Given the description of an element on the screen output the (x, y) to click on. 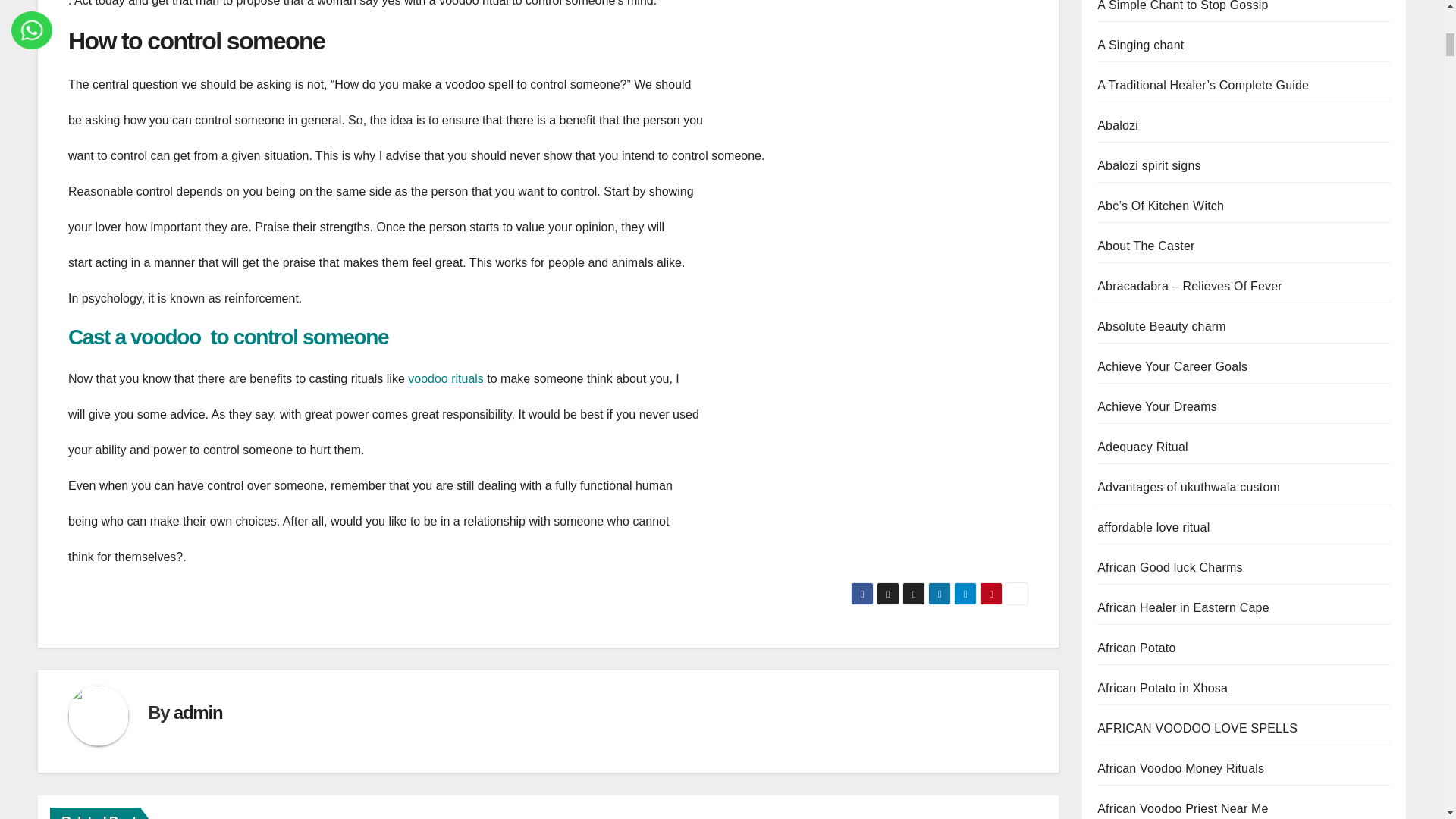
Cast a voodoo  to control someone  (230, 336)
voodoo rituals (445, 378)
